Given the description of an element on the screen output the (x, y) to click on. 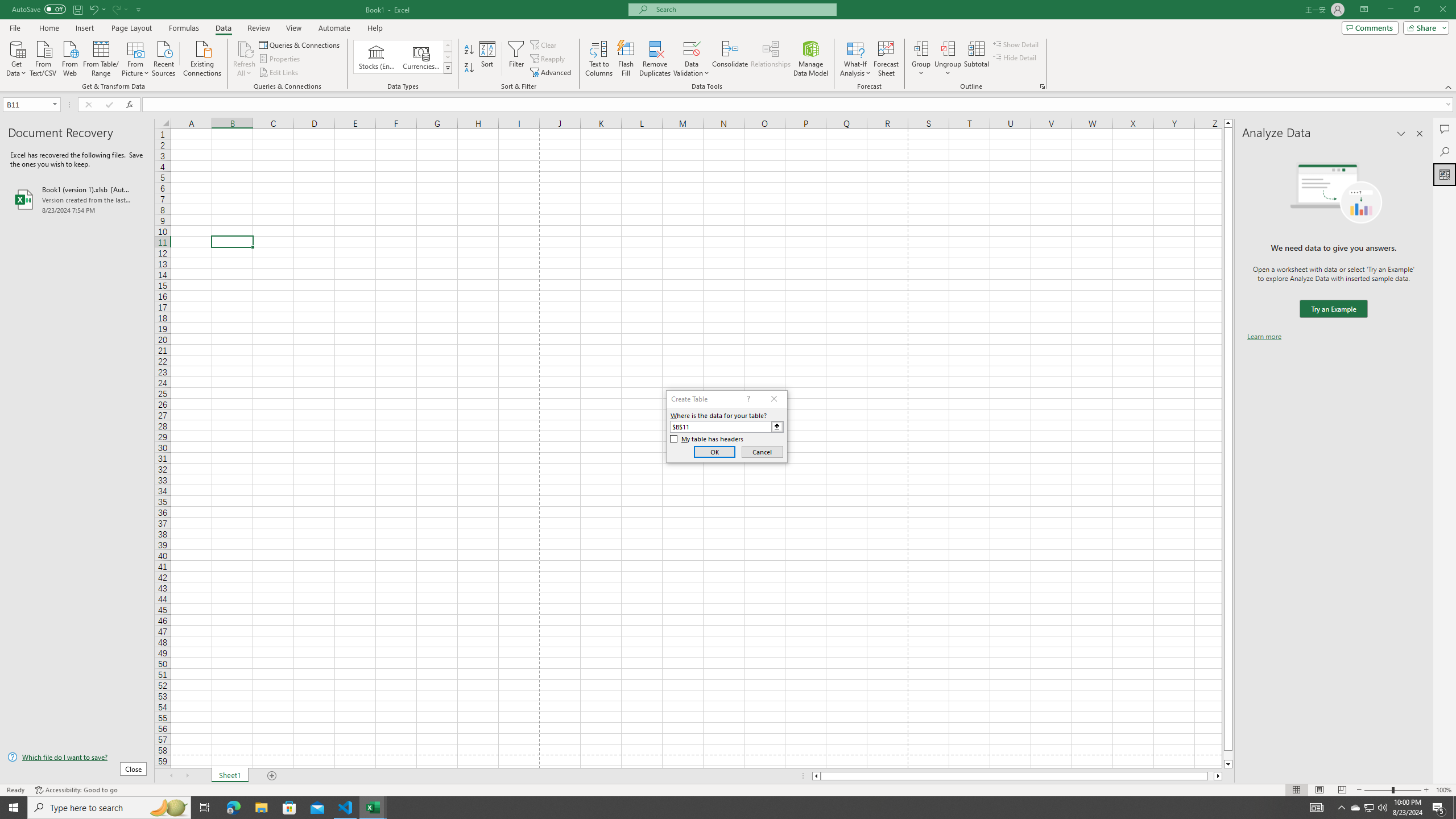
Consolidate... (729, 58)
